Given the description of an element on the screen output the (x, y) to click on. 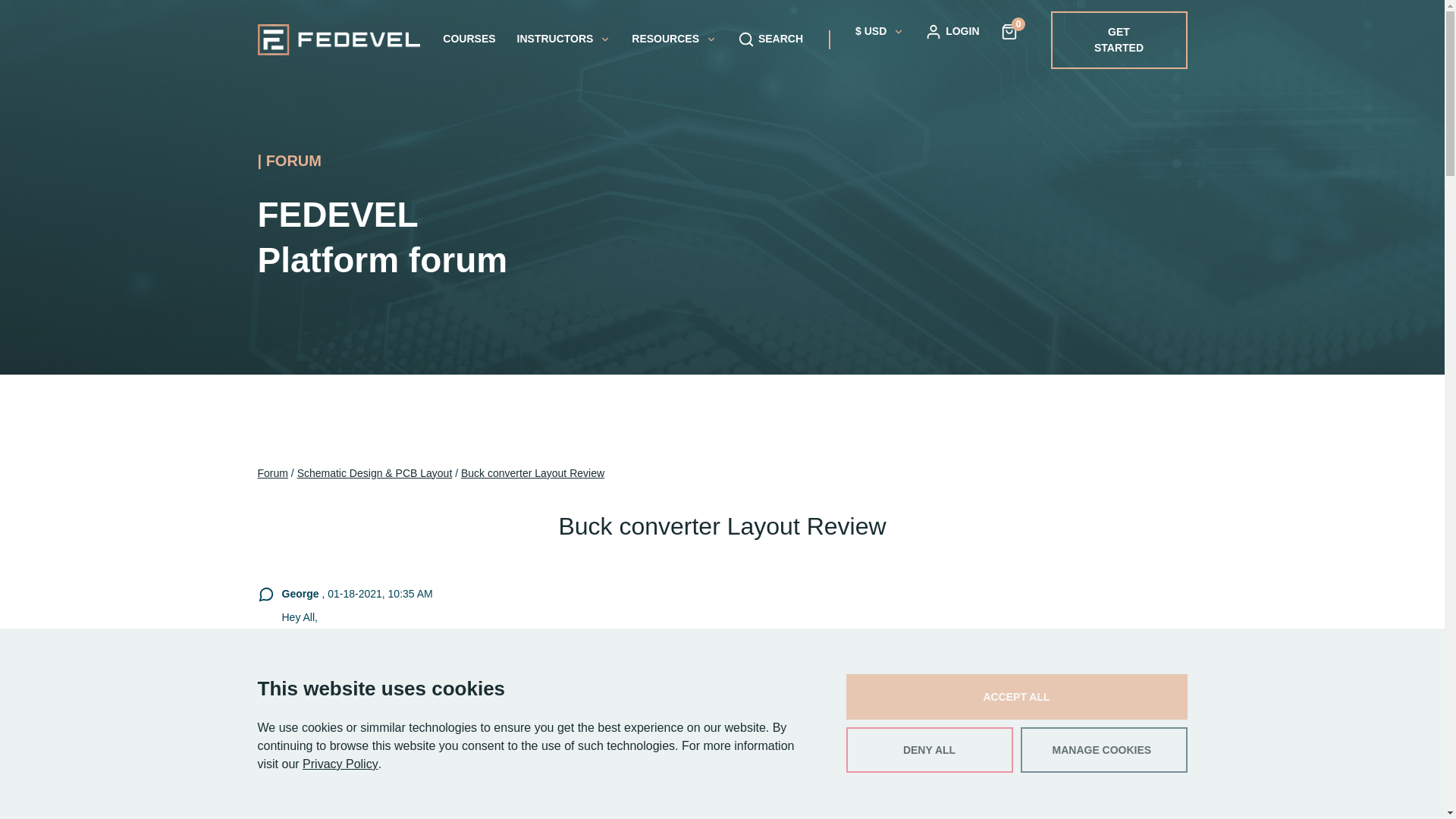
LOGIN (951, 30)
DENY ALL (929, 750)
RESOURCES  (673, 38)
COURSES (468, 38)
Forum (272, 473)
GET STARTED (1119, 38)
ACCEPT ALL (1016, 696)
INSTRUCTORS  (563, 38)
0 (1009, 30)
Privacy Policy (340, 764)
MANAGE COOKIES (1104, 750)
Buck converter Layout Review (532, 473)
SEARCH (770, 39)
